Given the description of an element on the screen output the (x, y) to click on. 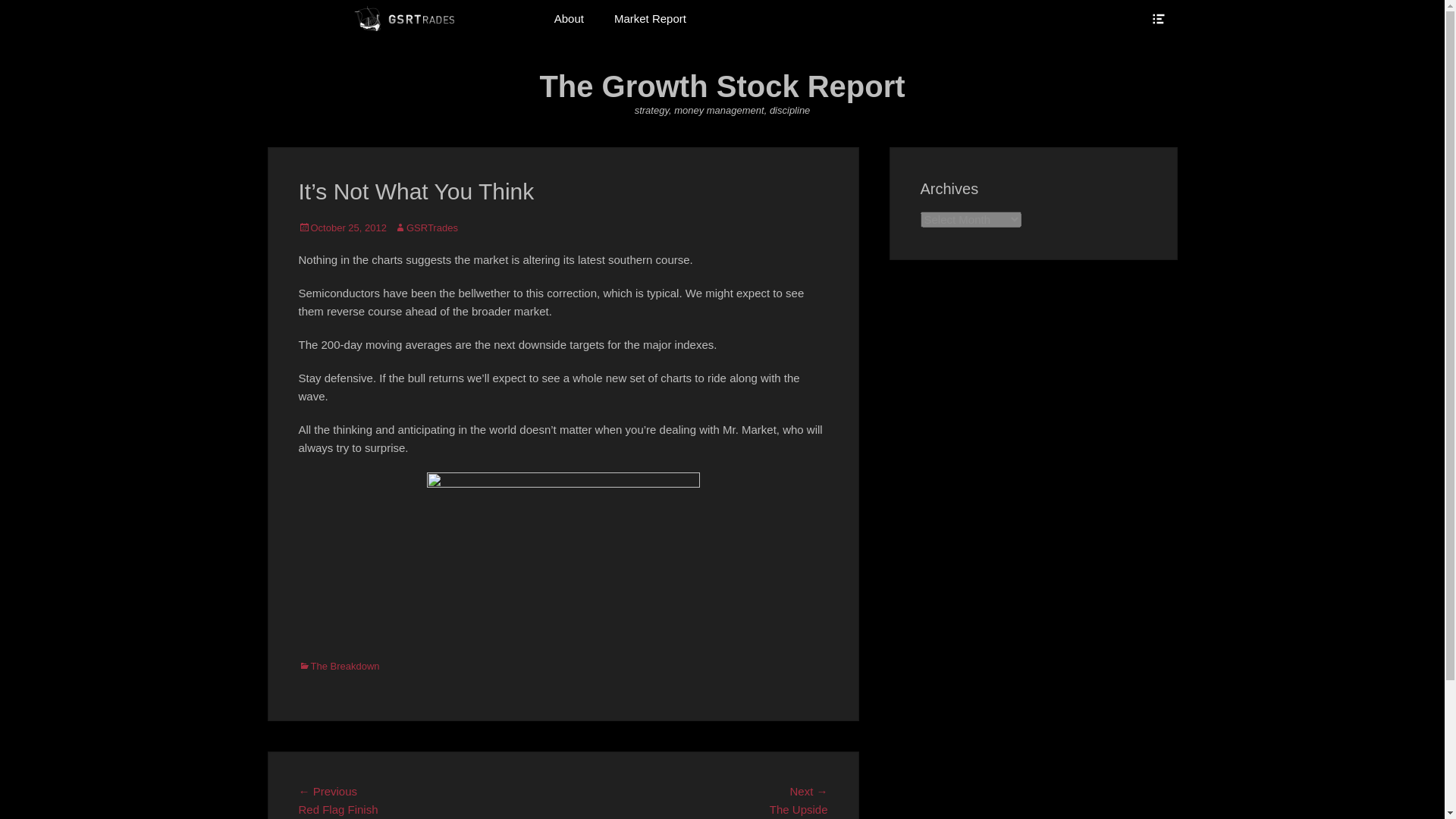
The Growth Stock Report (402, 18)
The Breakdown (339, 665)
About (568, 18)
Show Header Sidebar Content (1157, 18)
The Growth Stock Report (721, 86)
GSRTrades (426, 227)
spx102512 (562, 557)
Market Report (649, 18)
October 25, 2012 (342, 227)
